Given the description of an element on the screen output the (x, y) to click on. 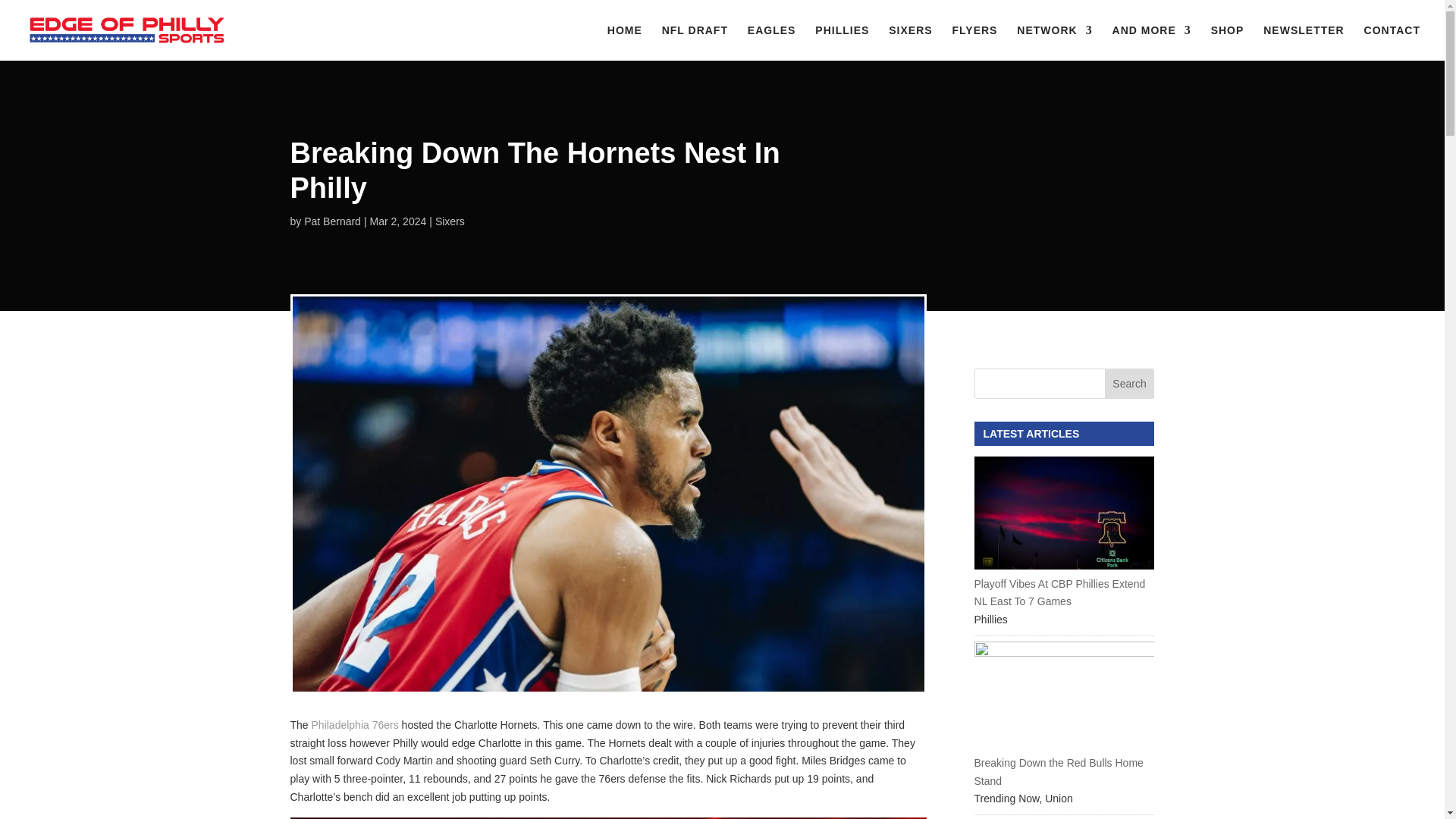
Pat Bernard (332, 221)
PHILLIES (842, 42)
NETWORK (1054, 42)
HOME (624, 42)
EAGLES (772, 42)
NEWSLETTER (1303, 42)
AND MORE (1151, 42)
Sixers (449, 221)
SHOP (1227, 42)
Philadelphia 76ers (354, 725)
